Given the description of an element on the screen output the (x, y) to click on. 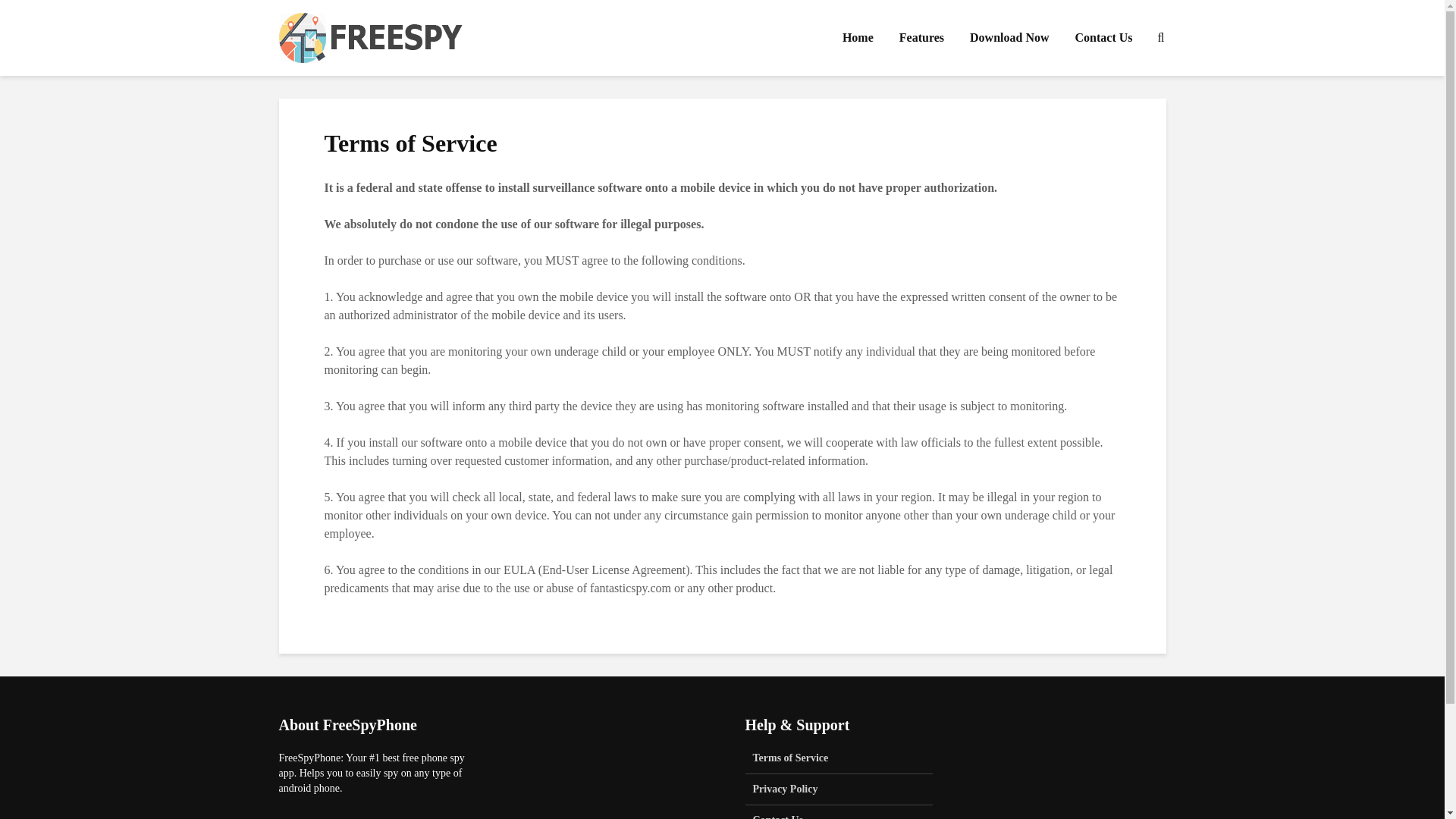
Download Now (1008, 37)
Contact Us (1102, 37)
Terms of Service (838, 762)
Privacy Policy (838, 789)
Home (858, 37)
Contact Us (838, 812)
Features (921, 37)
